Given the description of an element on the screen output the (x, y) to click on. 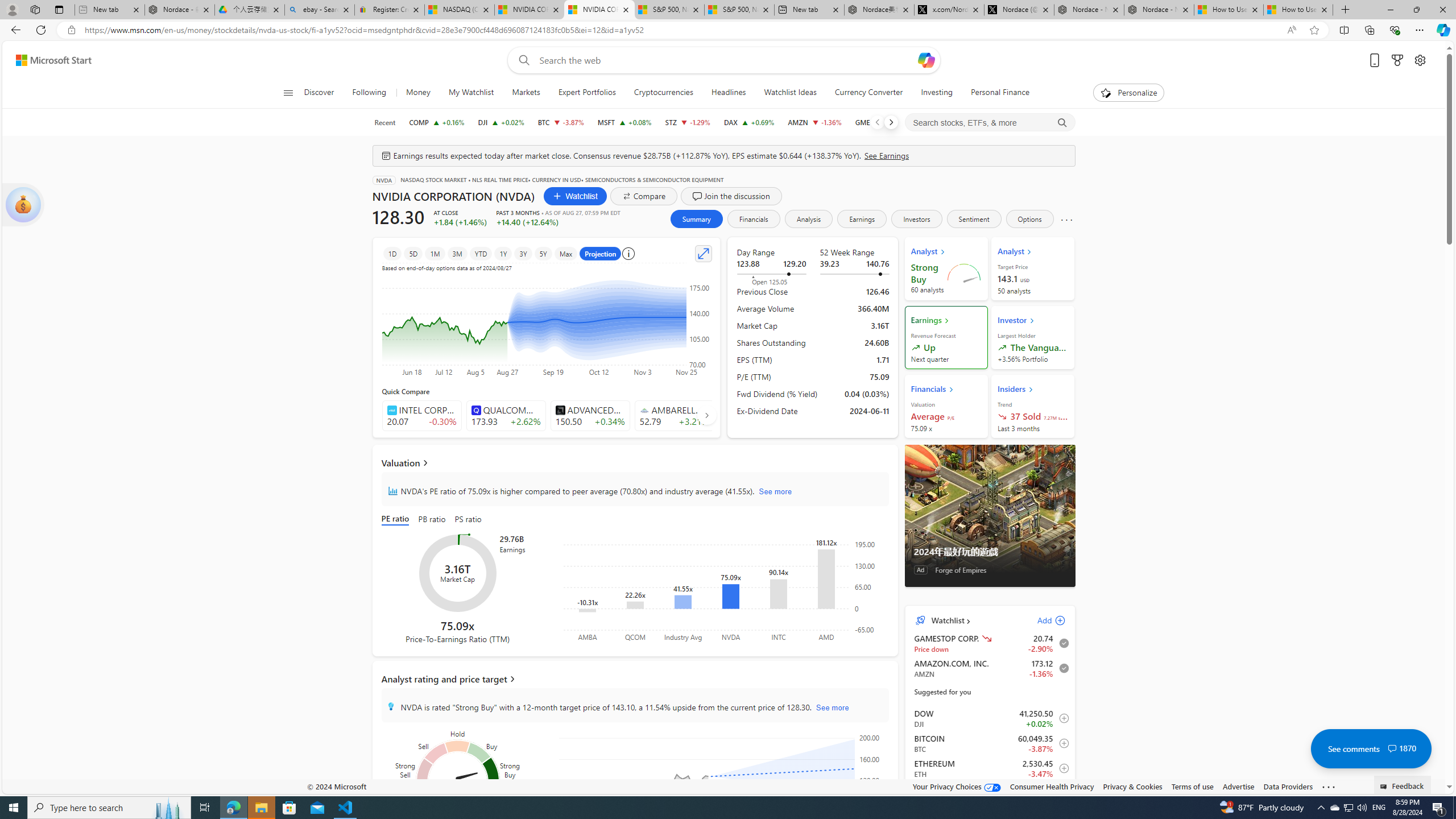
BTC Bitcoin decrease 60,049.35 -2,320.91 -3.87% (560, 122)
Class: feedback_link_icon-DS-EntryPoint1-1 (1384, 786)
Privacy & Cookies (1131, 785)
Advertise (1238, 785)
5D (413, 253)
Watchlist (575, 195)
YTD (480, 253)
GME GAMESTOP CORP. decrease 20.74 -0.62 -2.90% (879, 122)
Watchlist (946, 620)
Open settings (1420, 60)
Register: Create a personal eBay account (389, 9)
